Given the description of an element on the screen output the (x, y) to click on. 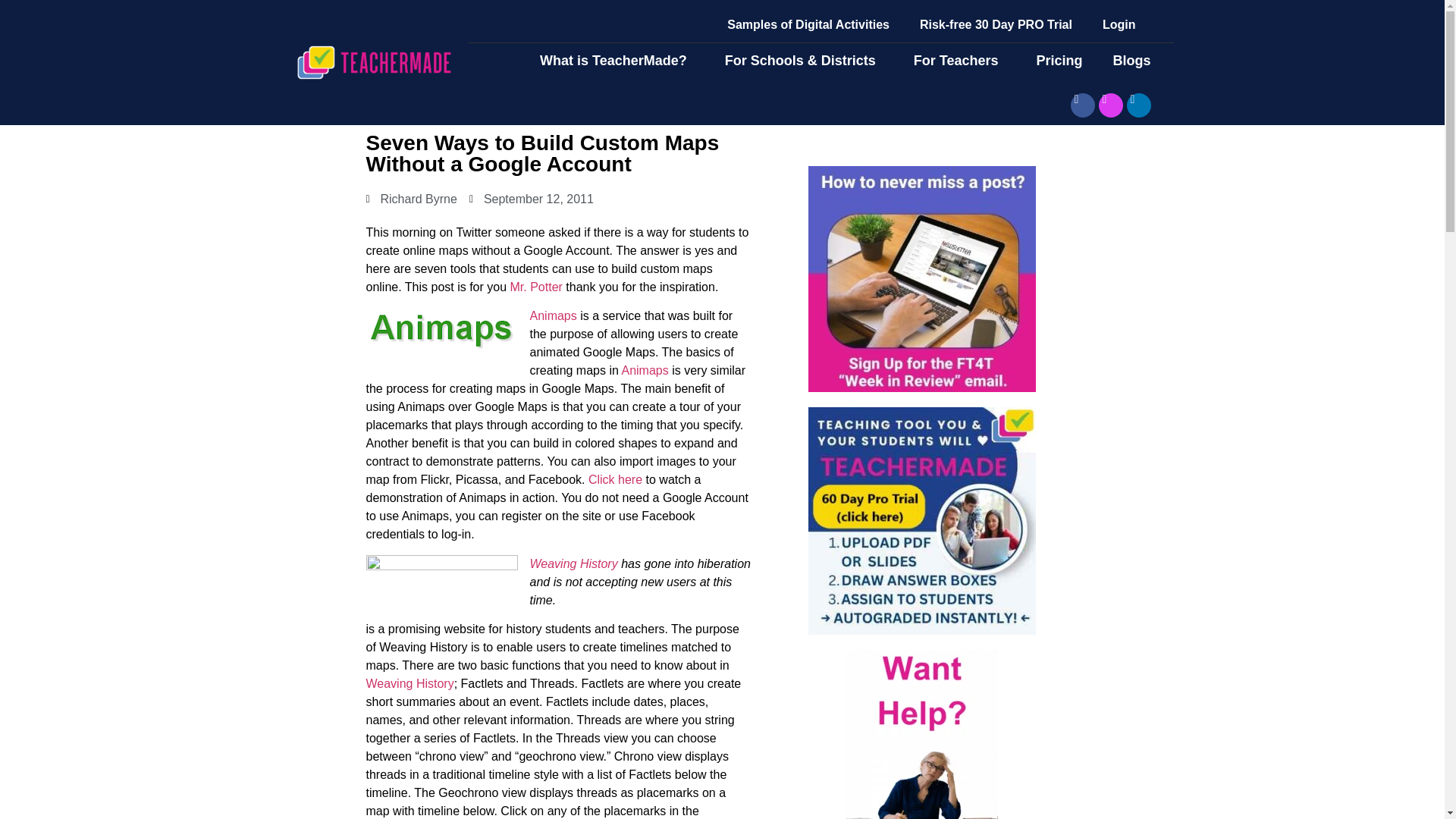
What is TeacherMade? (617, 60)
For Teachers (960, 60)
Blogs (1135, 60)
Pricing (1058, 60)
Login (1119, 24)
Risk-free 30 Day PRO Trial (995, 24)
Samples of Digital Activities (807, 24)
